Given the description of an element on the screen output the (x, y) to click on. 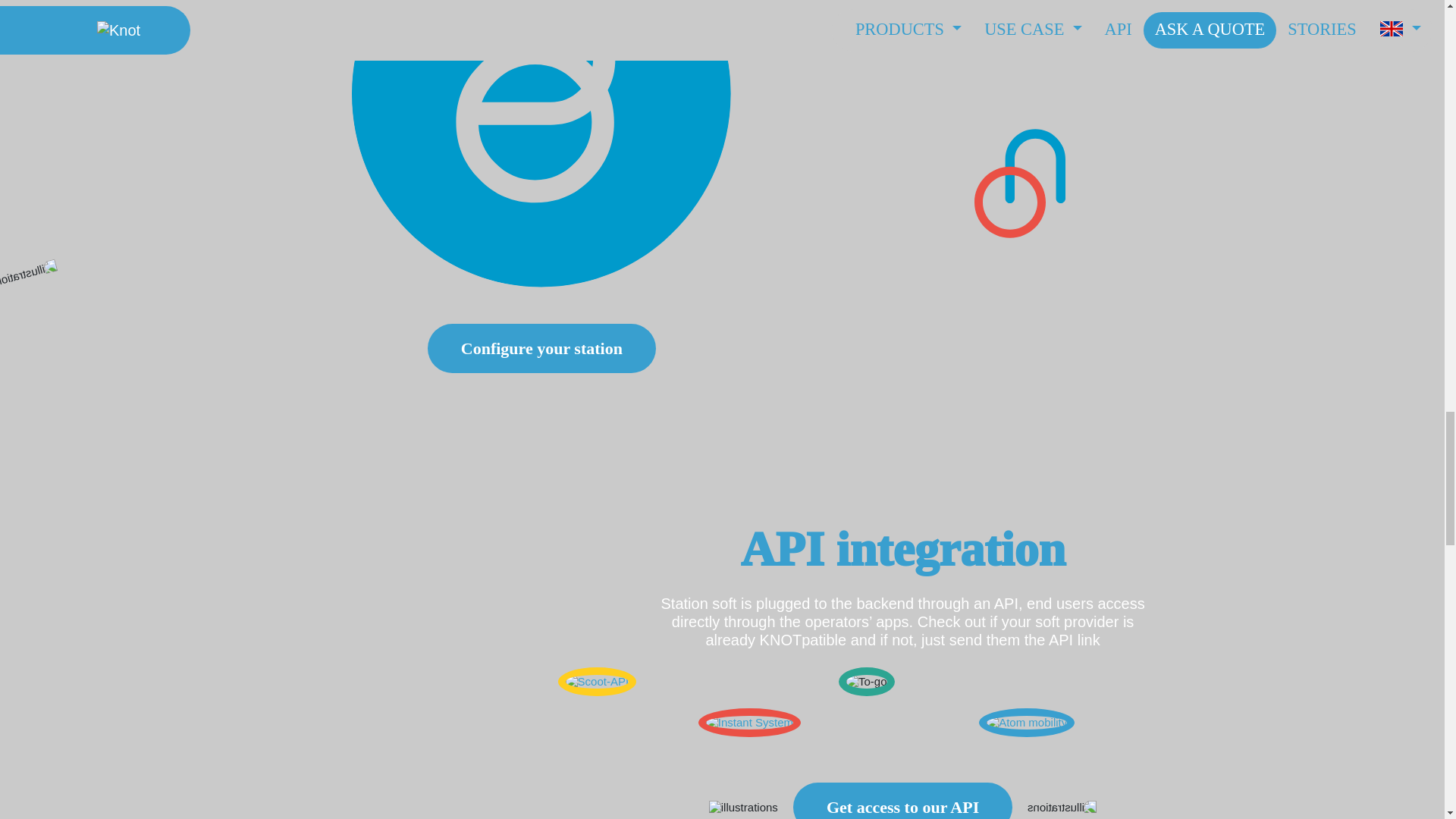
Get access to our API (902, 800)
Configure your station (542, 348)
